Given the description of an element on the screen output the (x, y) to click on. 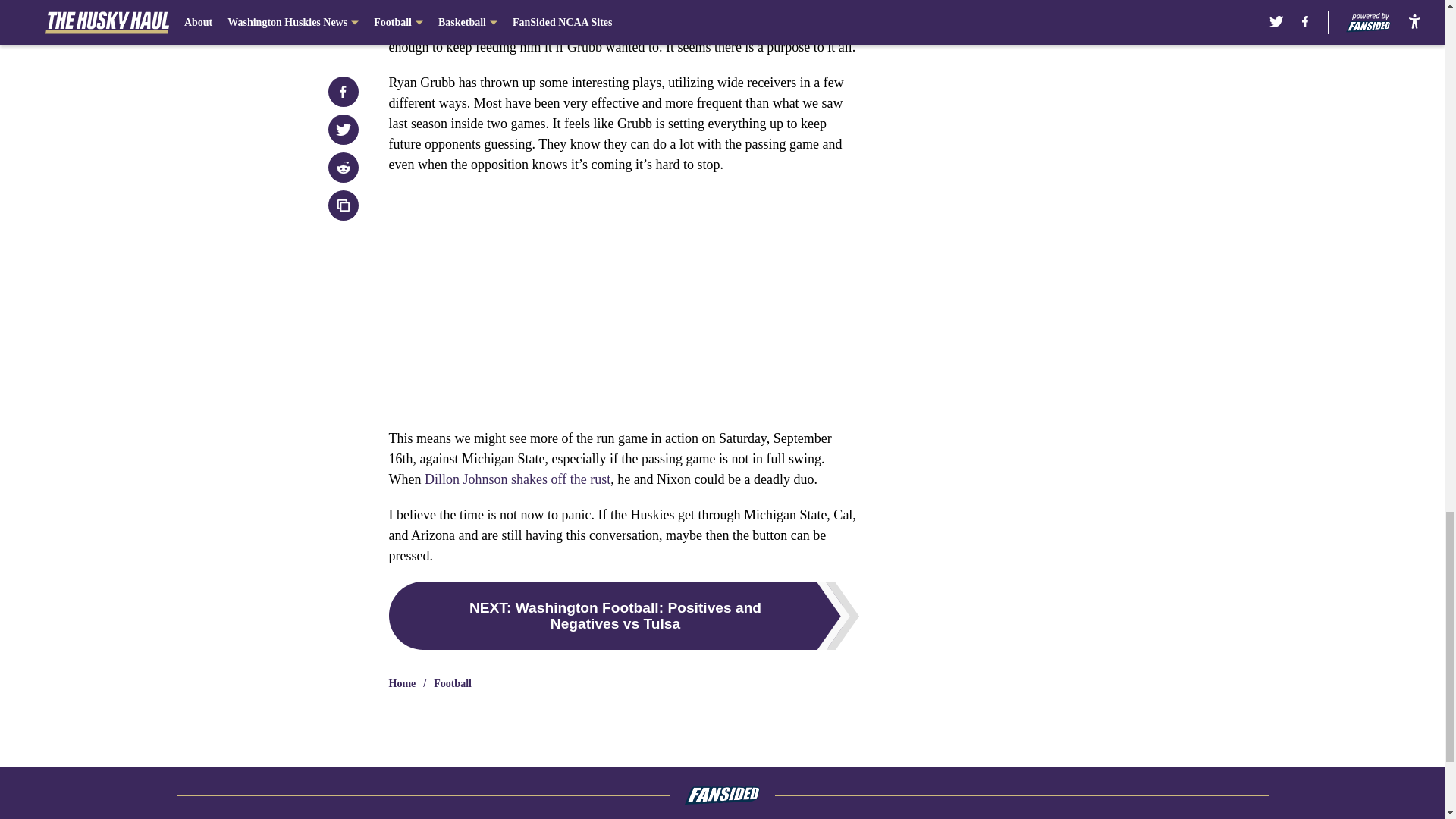
Home (401, 683)
NEXT: Washington Football: Positives and Negatives vs Tulsa (623, 615)
Football (452, 683)
Dillon Johnson shakes off the rust (517, 478)
